Given the description of an element on the screen output the (x, y) to click on. 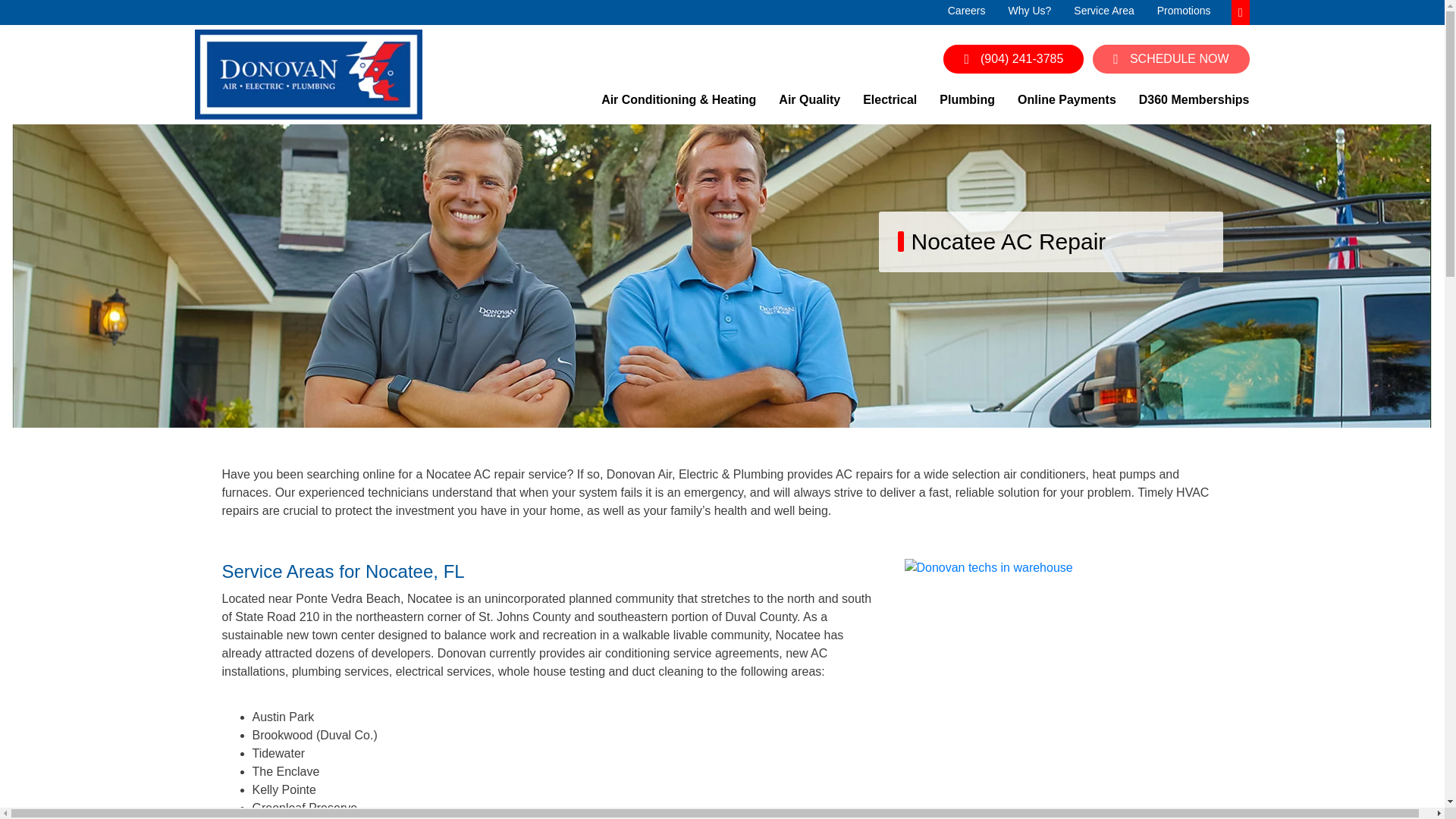
SCHEDULE NOW (1171, 59)
Service Area (1104, 10)
Promotions (1184, 10)
Air Quality (809, 105)
Electrical (889, 105)
Careers (966, 10)
Why Us? (1030, 10)
